Given the description of an element on the screen output the (x, y) to click on. 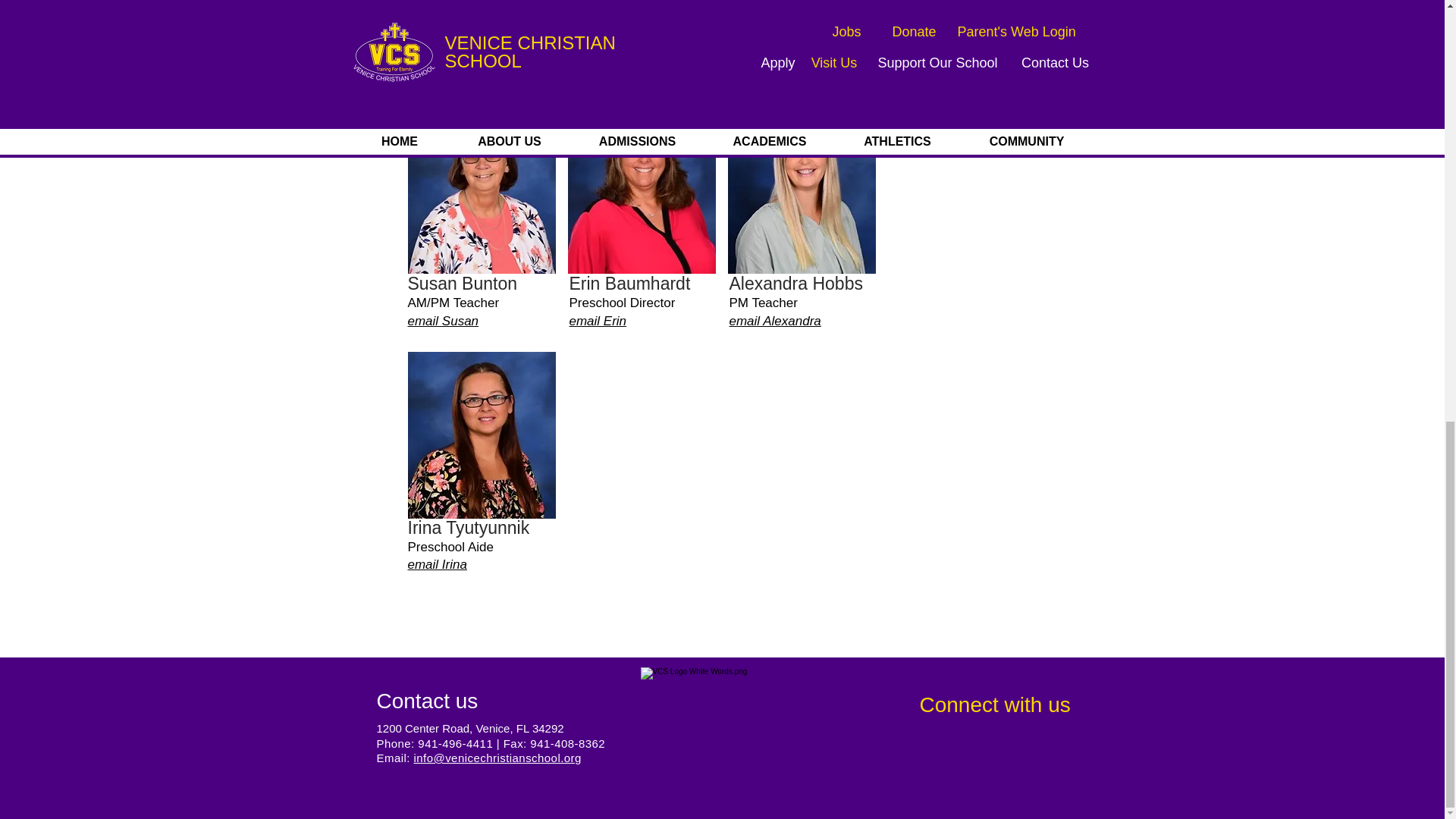
Click Here to apply here at Venice Christian School (604, 25)
email Erin (597, 320)
email Alexandra (775, 320)
email Irina (437, 564)
email Susan (443, 320)
